Given the description of an element on the screen output the (x, y) to click on. 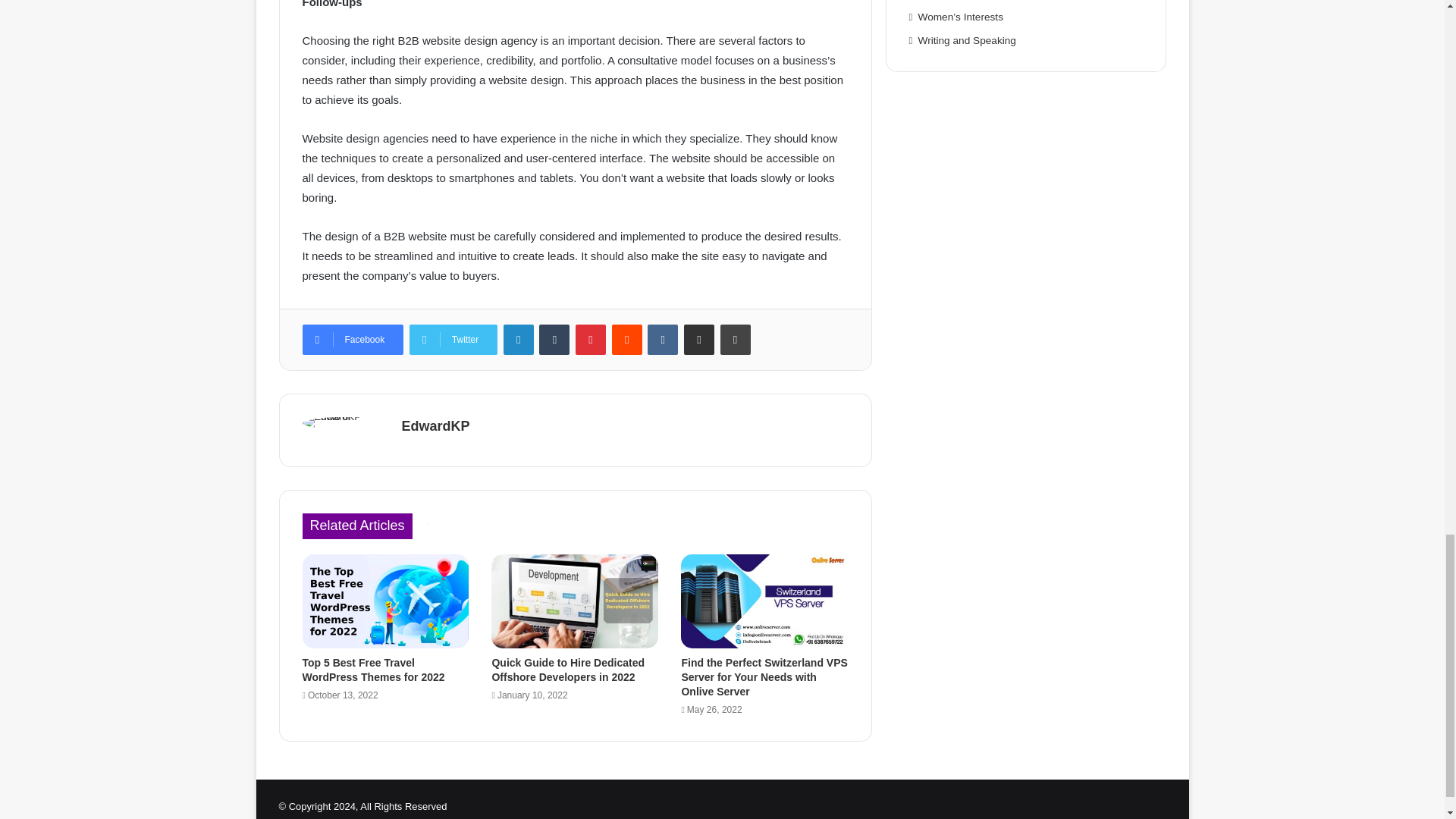
Reddit (626, 339)
LinkedIn (518, 339)
LinkedIn (518, 339)
Twitter (453, 339)
VKontakte (662, 339)
Tumblr (553, 339)
Twitter (453, 339)
Share via Email (699, 339)
Print (735, 339)
Facebook (352, 339)
Facebook (352, 339)
Pinterest (590, 339)
Tumblr (553, 339)
